Given the description of an element on the screen output the (x, y) to click on. 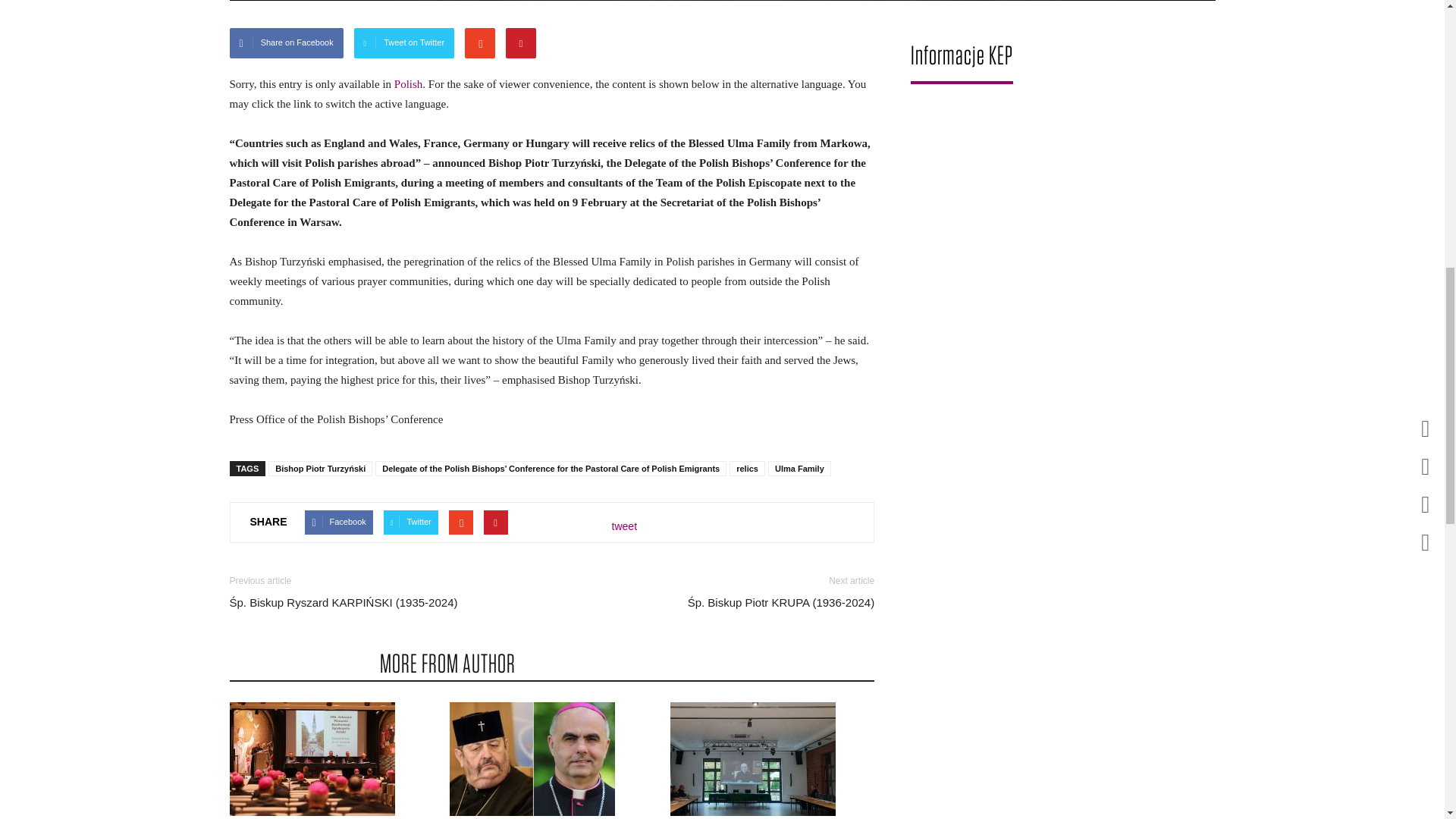
Polski (408, 83)
